Given the description of an element on the screen output the (x, y) to click on. 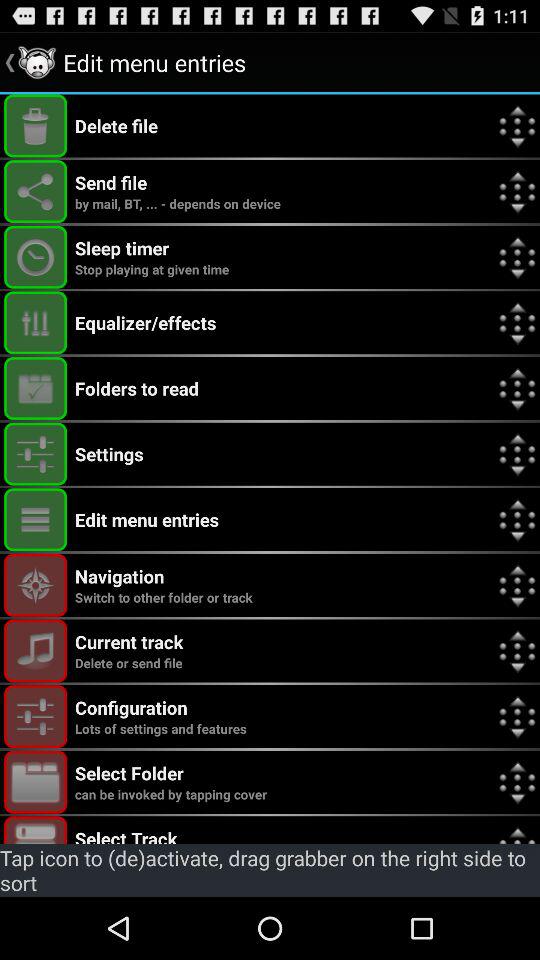
hotkey activation toggle (35, 781)
